Given the description of an element on the screen output the (x, y) to click on. 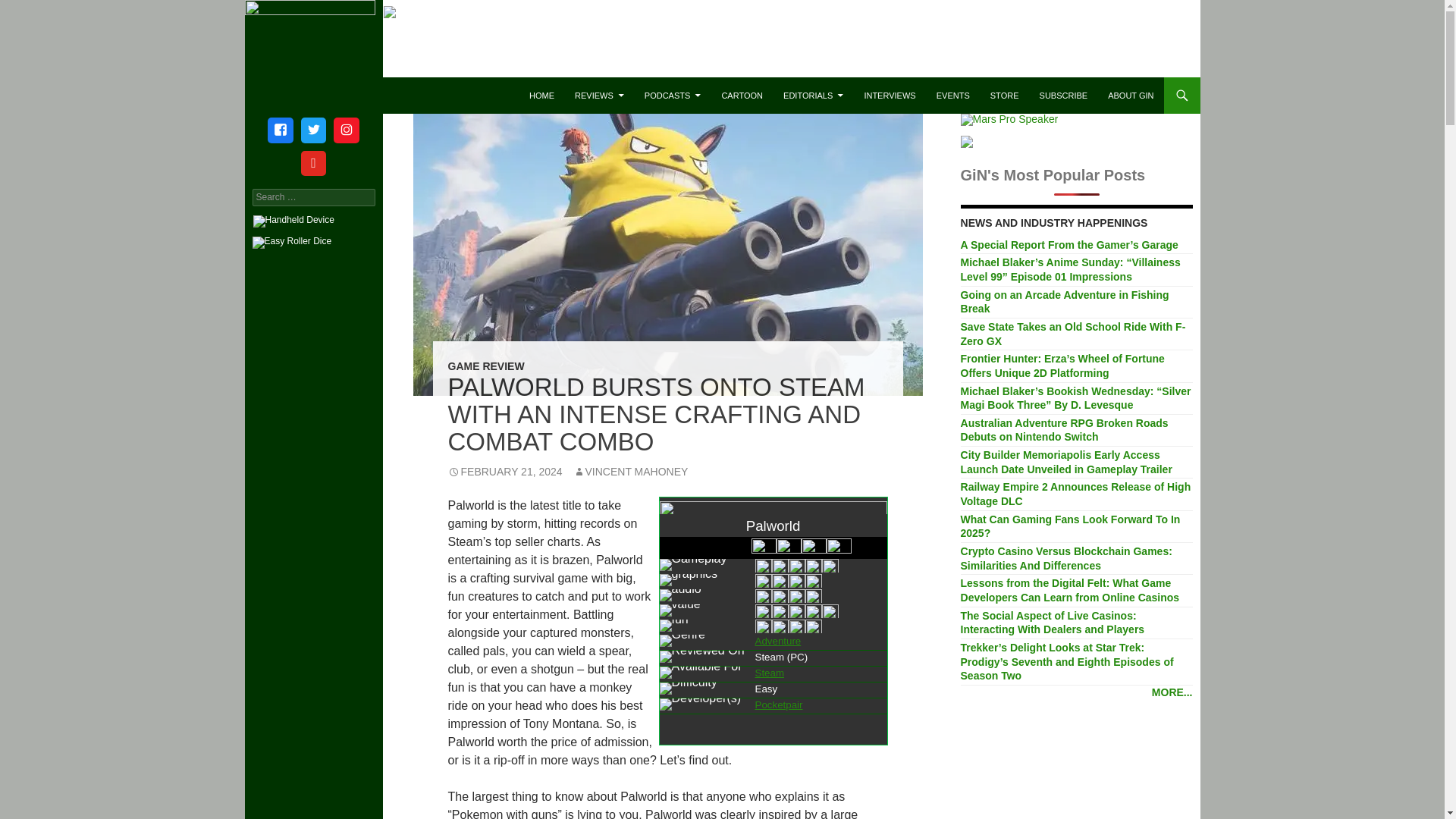
HOME (541, 94)
REVIEWS (599, 94)
Game Industry News (333, 94)
INTERVIEWS (889, 94)
EDITORIALS (812, 94)
STORE (1004, 94)
Adventure (778, 641)
SUBSCRIBE (1063, 94)
FEBRUARY 21, 2024 (504, 471)
